Given the description of an element on the screen output the (x, y) to click on. 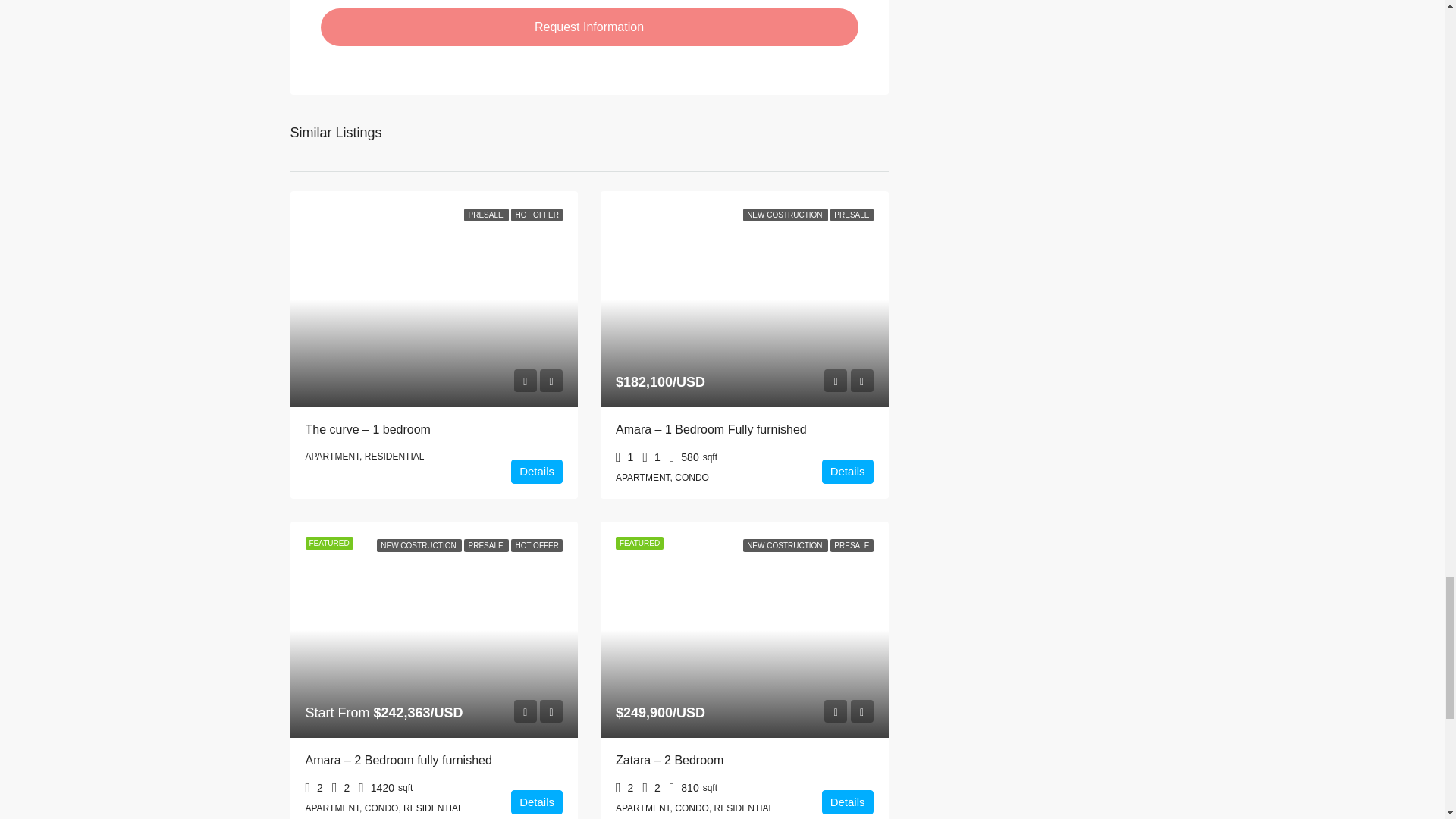
Add to Compare (551, 380)
Preview (525, 380)
Preview (525, 711)
Request Information (588, 26)
Add to Compare (861, 380)
Preview (835, 711)
Add to Compare (861, 711)
Preview (835, 380)
Add to Compare (551, 711)
